Given the description of an element on the screen output the (x, y) to click on. 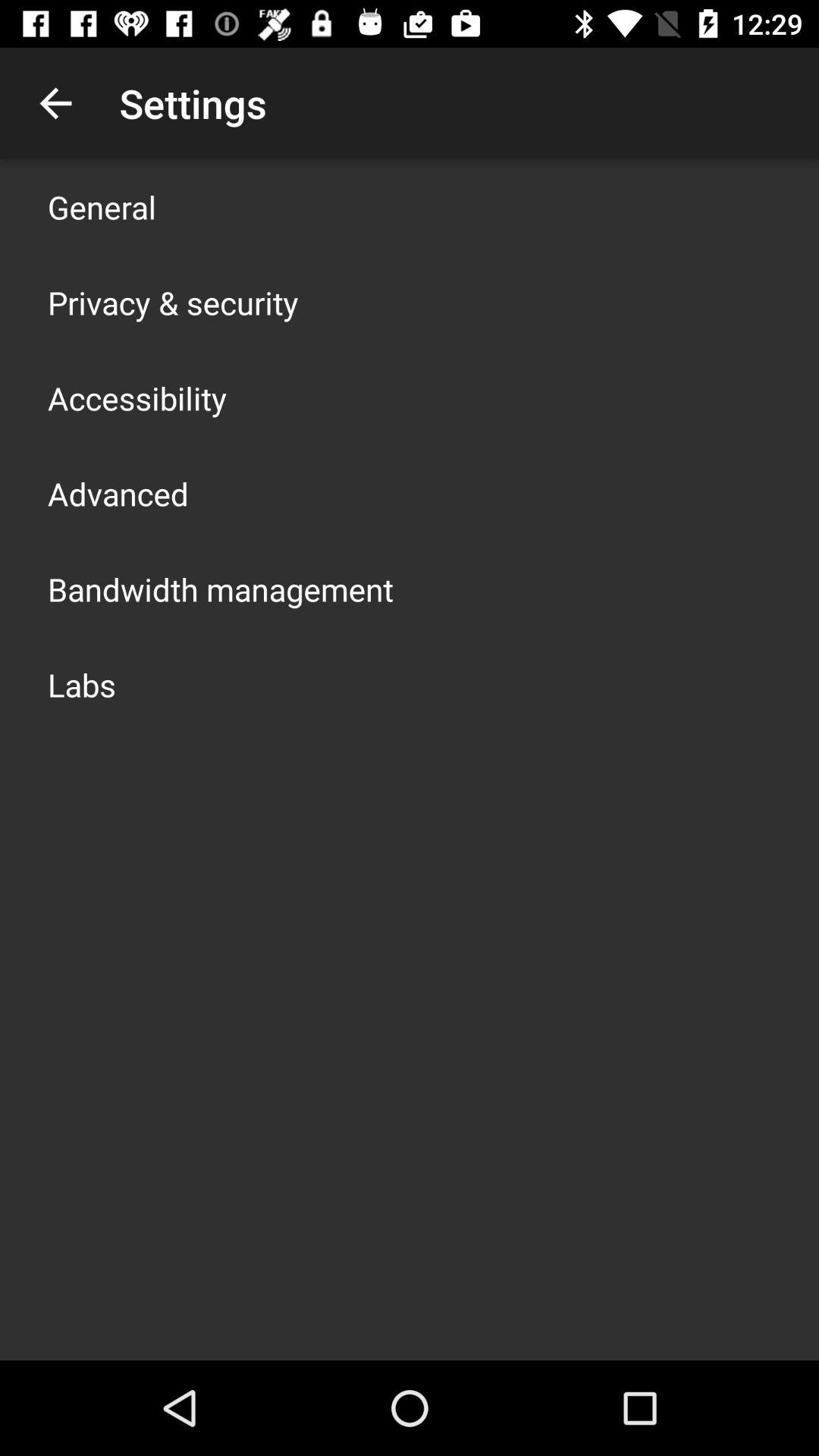
flip until bandwidth management app (220, 588)
